Given the description of an element on the screen output the (x, y) to click on. 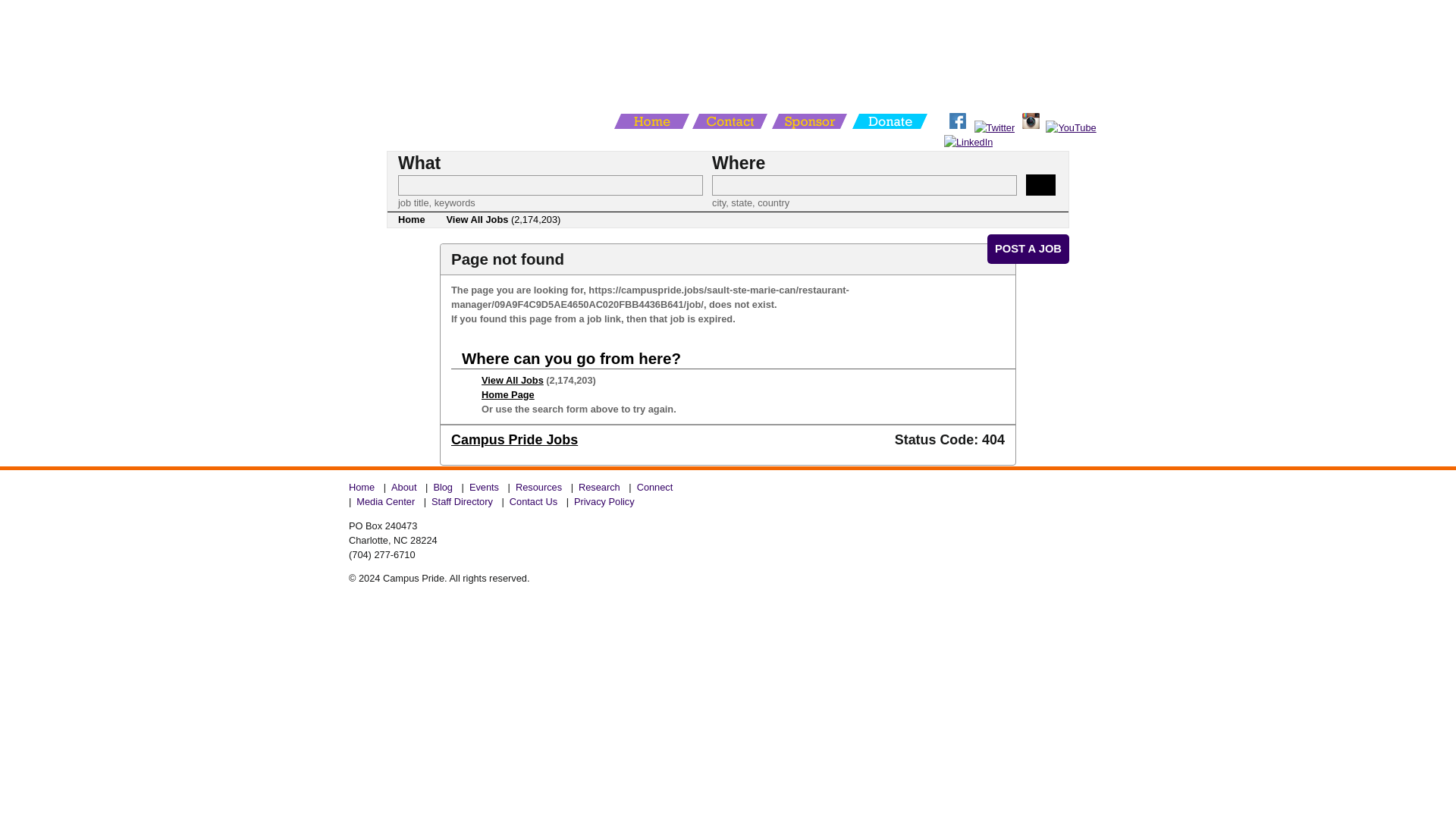
Resources (539, 487)
Home (411, 219)
Events (484, 487)
Blog (443, 487)
Research (599, 487)
Search Location (863, 185)
View All Jobs (512, 379)
Privacy Policy (604, 501)
About (403, 487)
Contact Us (533, 501)
